Given the description of an element on the screen output the (x, y) to click on. 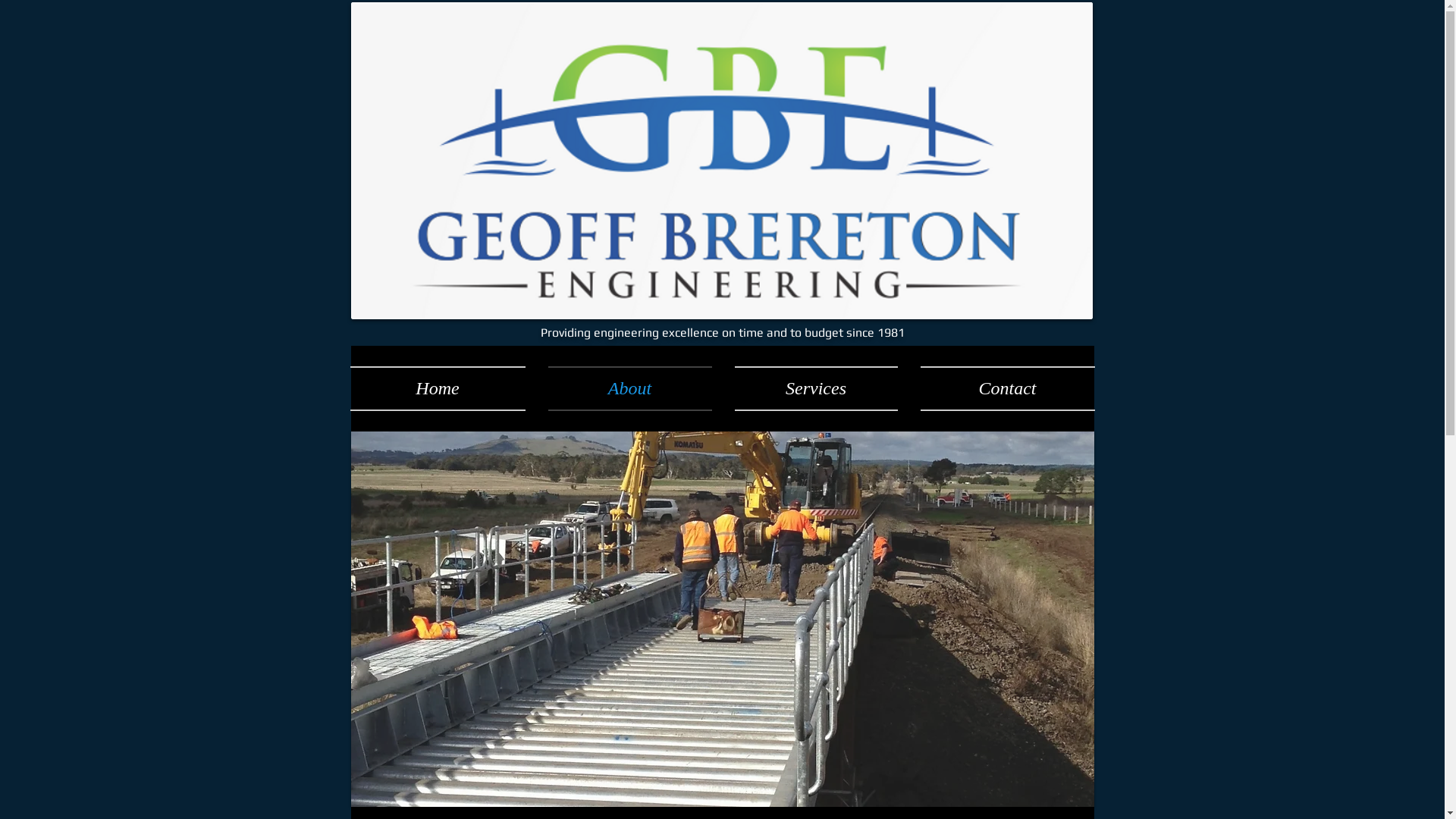
Services Element type: text (816, 388)
About Element type: text (629, 388)
Home Element type: text (443, 388)
Contact Element type: text (1001, 388)
